Given the description of an element on the screen output the (x, y) to click on. 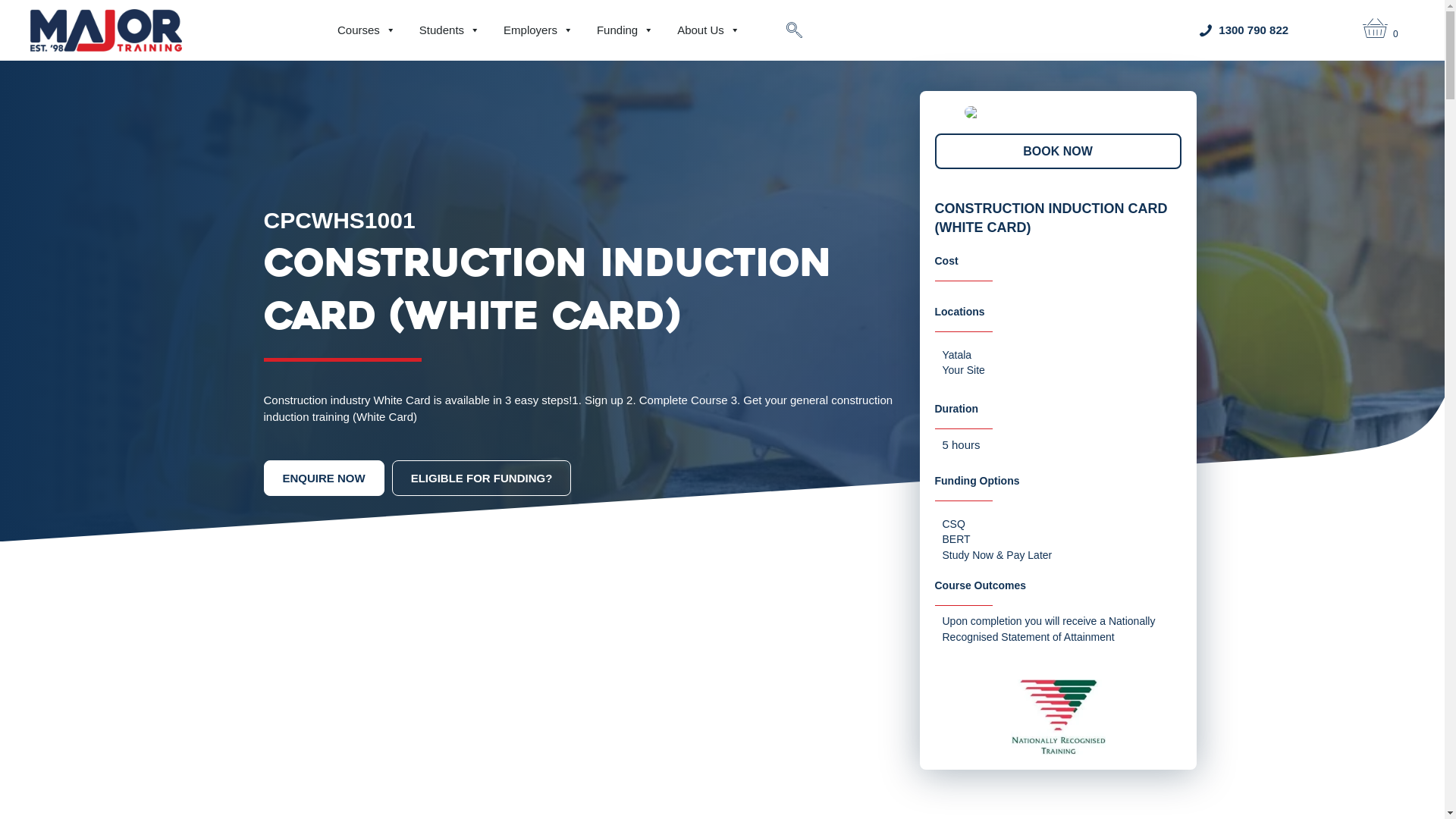
ENQUIRE NOW Element type: text (323, 477)
ELIGIBLE FOR FUNDING? Element type: text (481, 477)
Funding Element type: text (624, 30)
Courses Element type: text (366, 30)
Employers Element type: text (538, 30)
BERT Element type: text (955, 539)
Students Element type: text (449, 30)
About Us Element type: text (708, 30)
Major Training Group Element type: hover (106, 30)
1300 790 822 Element type: text (1253, 29)
Study Now & Pay Later Element type: text (996, 555)
Yatala Element type: text (956, 354)
Construction Industry (White Card) Element type: hover (1057, 112)
0 Element type: text (1382, 29)
CSQ Element type: text (952, 523)
Your Site Element type: text (962, 370)
Nationally Recognised Training Logo Element type: hover (1057, 716)
BOOK NOW Element type: text (1057, 151)
